Given the description of an element on the screen output the (x, y) to click on. 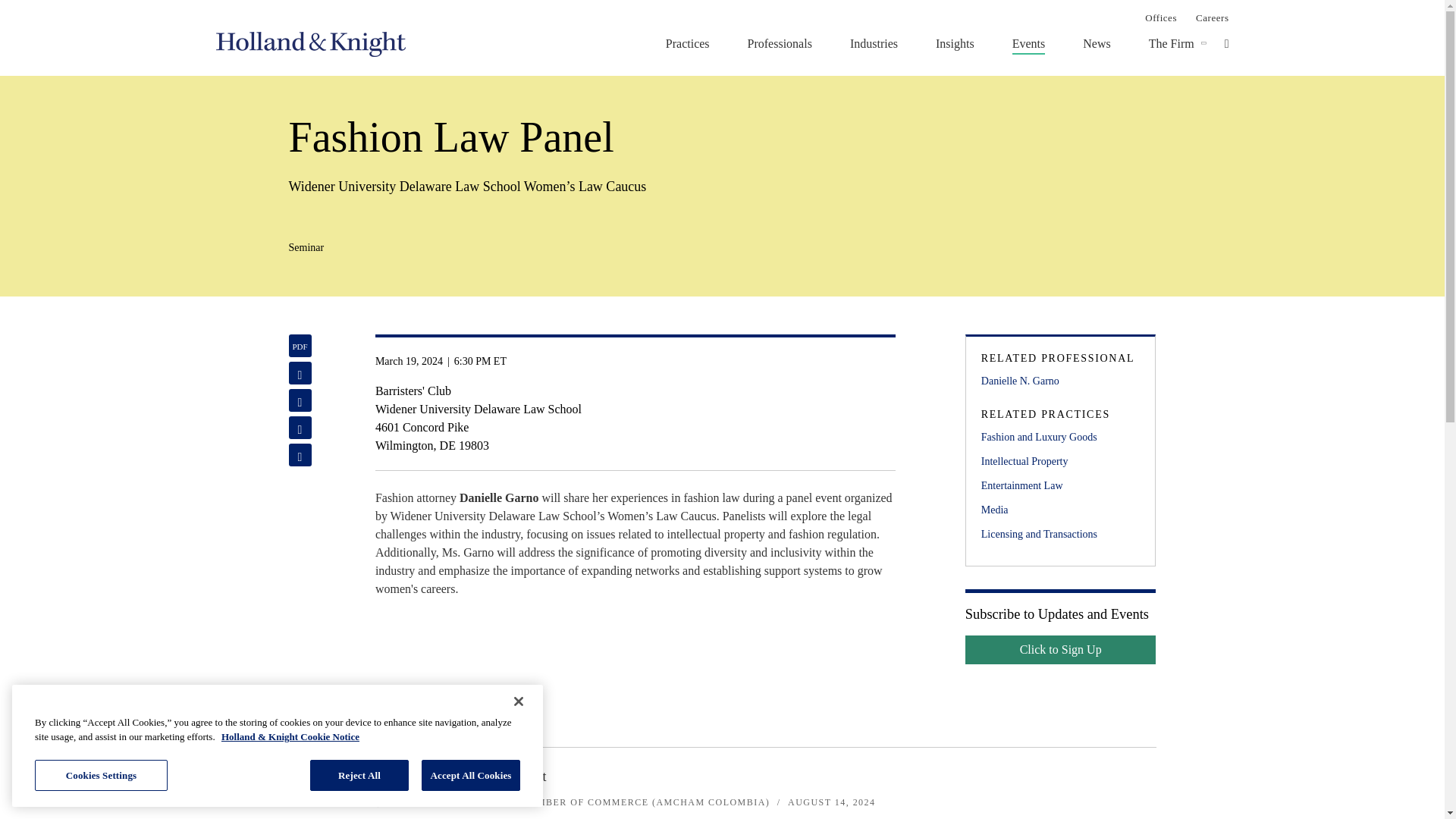
Practices (687, 42)
The Firm (1170, 43)
Industries (874, 42)
Offices (1160, 16)
Danielle N. Garno (1060, 381)
Fashion and Luxury Goods (1060, 437)
News (1096, 42)
Insights (955, 42)
Intellectual Property (1060, 461)
Entertainment Law (1060, 485)
